Given the description of an element on the screen output the (x, y) to click on. 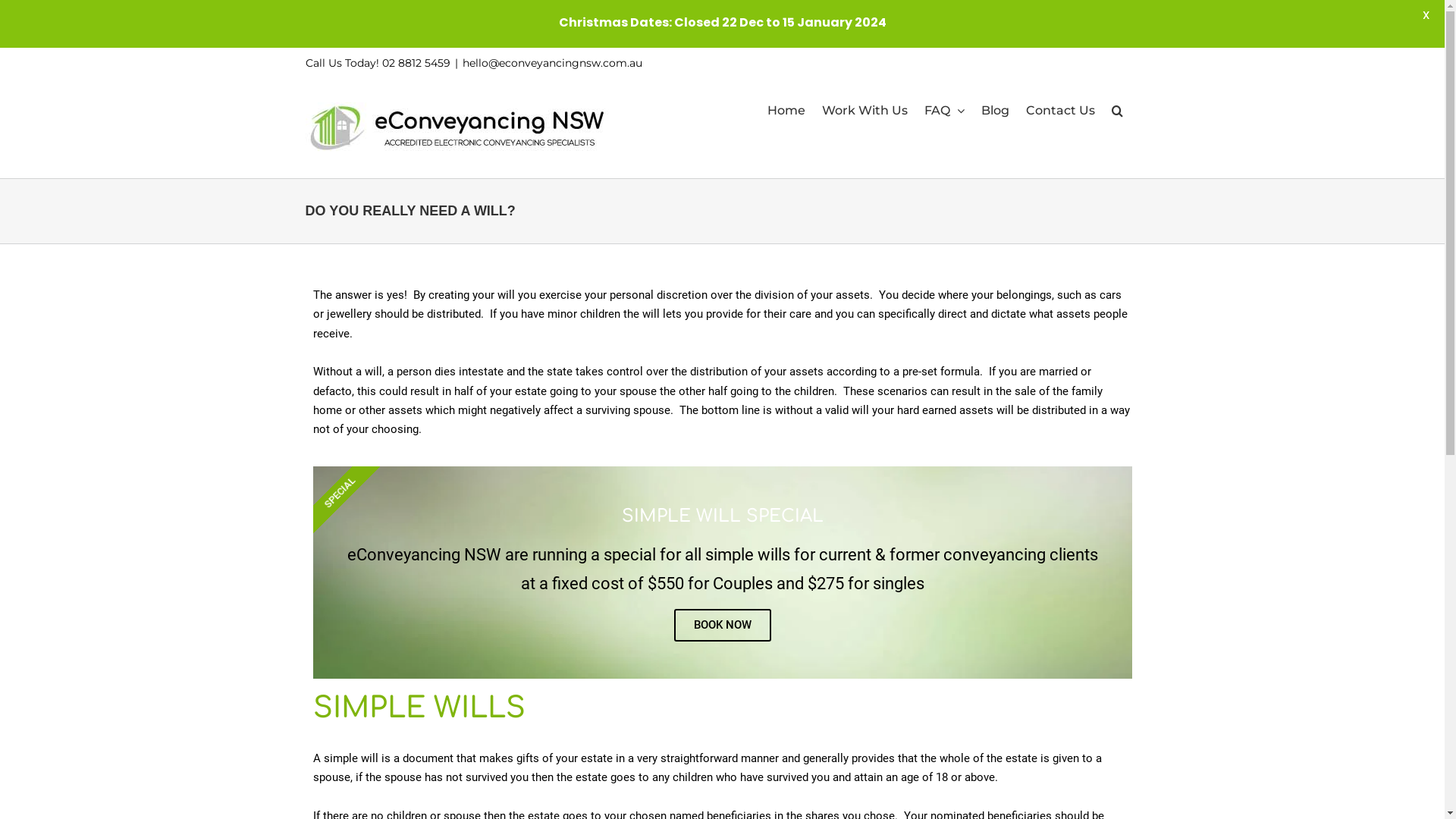
hello@econveyancingnsw.com.au Element type: text (552, 62)
BOOK NOW Element type: text (721, 624)
Contact Us Element type: text (1059, 110)
Home Element type: text (786, 110)
FAQ Element type: text (943, 110)
Search Element type: hover (1117, 110)
Work With Us Element type: text (864, 110)
Blog Element type: text (995, 110)
